Given the description of an element on the screen output the (x, y) to click on. 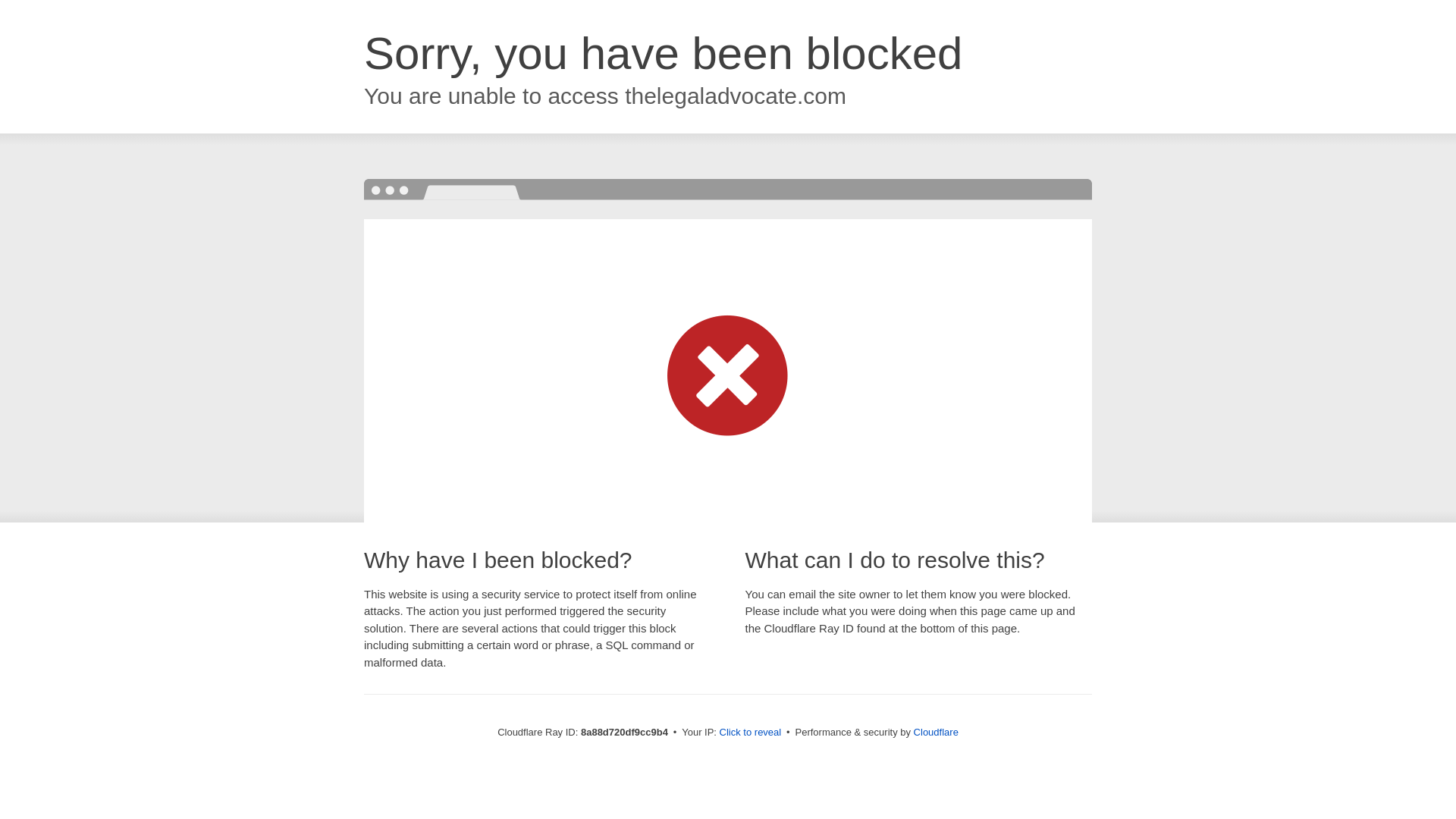
Click to reveal (750, 732)
Cloudflare (936, 731)
